Given the description of an element on the screen output the (x, y) to click on. 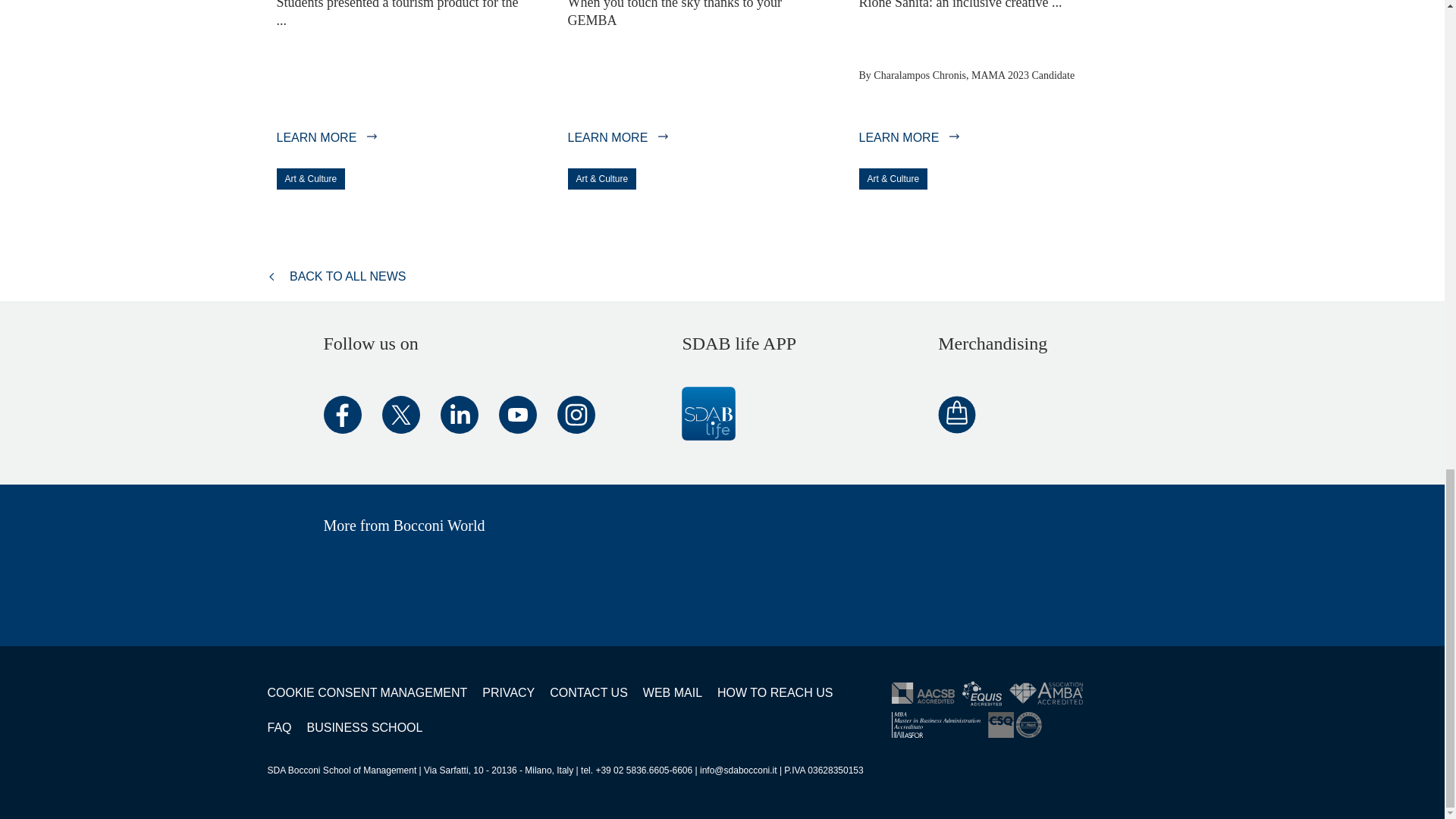
Modifica consensi cookie (366, 692)
